Given the description of an element on the screen output the (x, y) to click on. 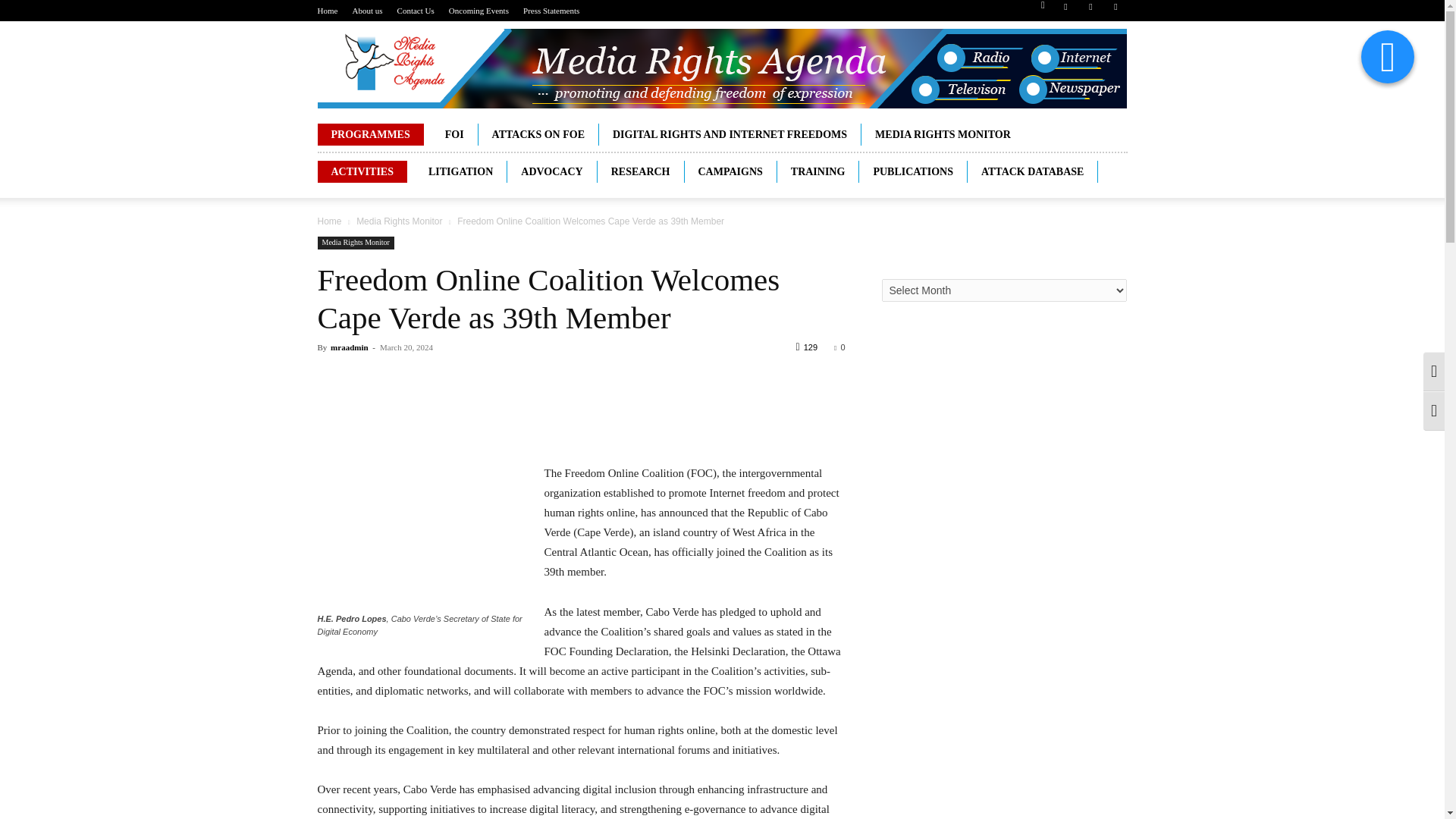
Home (327, 10)
Contact Us (415, 10)
Search (1085, 64)
View all posts in Media Rights Monitor (399, 221)
Facebook (1065, 11)
Media Rights Agenda Logo (721, 68)
About us (366, 10)
Linkedin (1090, 11)
Oncoming Events (478, 10)
Twitter (1114, 11)
Press Statements (550, 10)
